Given the description of an element on the screen output the (x, y) to click on. 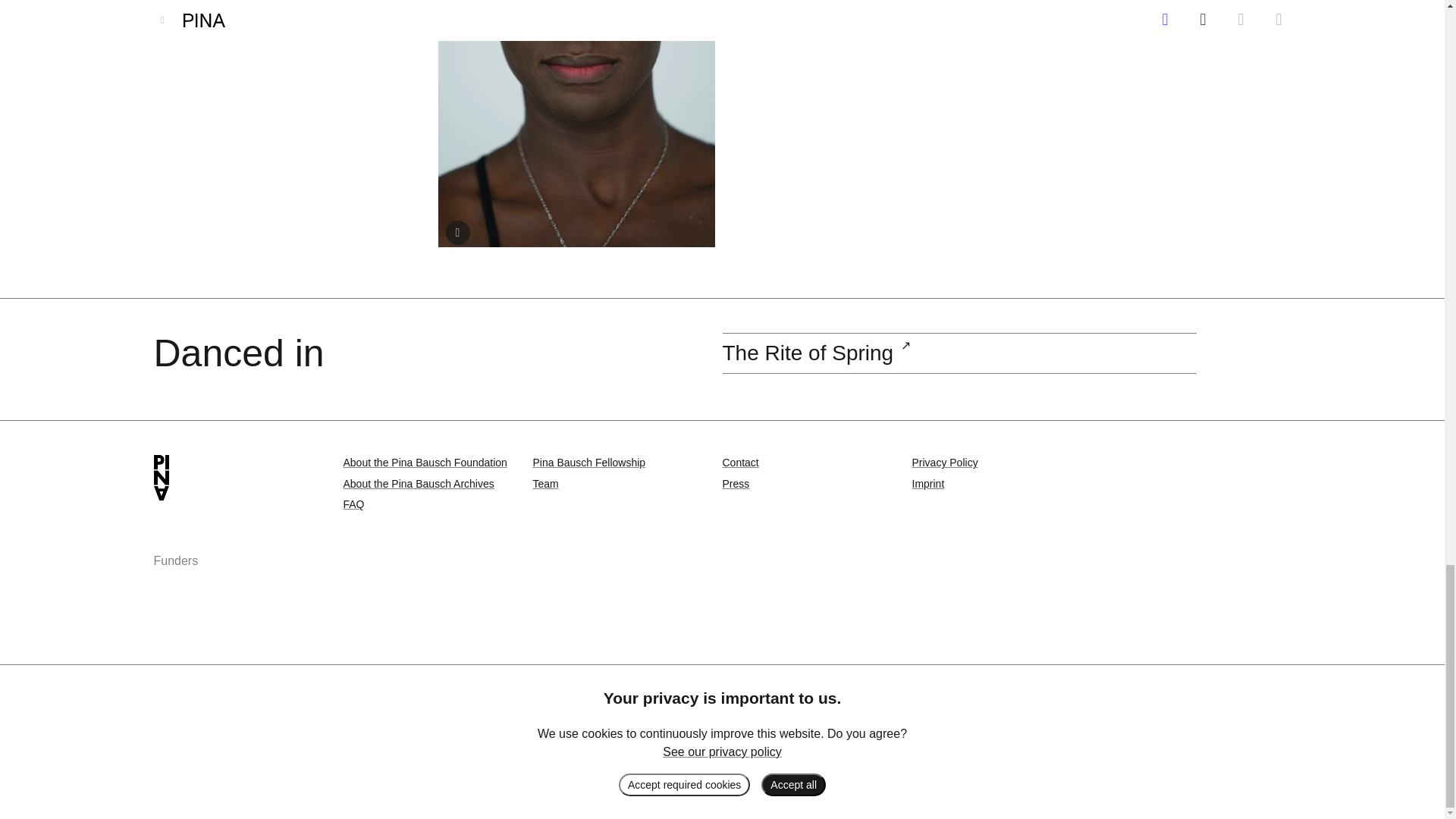
View credits (457, 232)
View credits (457, 232)
FAQ (353, 503)
About the Pina Bausch Foundation (424, 462)
The Rite of Spring (807, 352)
About the Pina Bausch Archives (417, 483)
Pina Bausch Fellowship (588, 462)
